Given the description of an element on the screen output the (x, y) to click on. 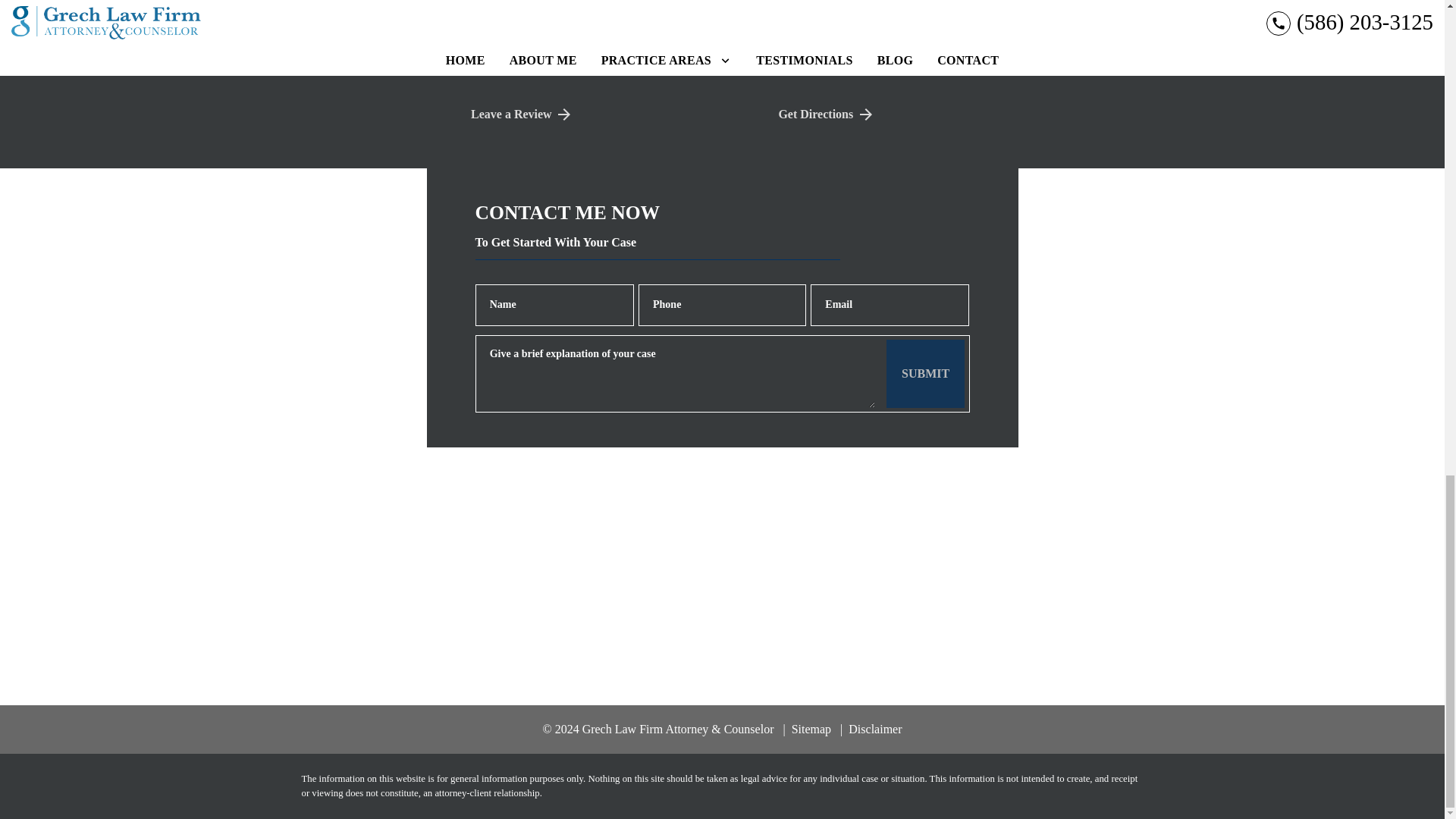
SUBMIT (924, 373)
Sitemap (807, 728)
Disclaimer (870, 728)
Leave a Review (612, 14)
Get Directions (612, 113)
